Given the description of an element on the screen output the (x, y) to click on. 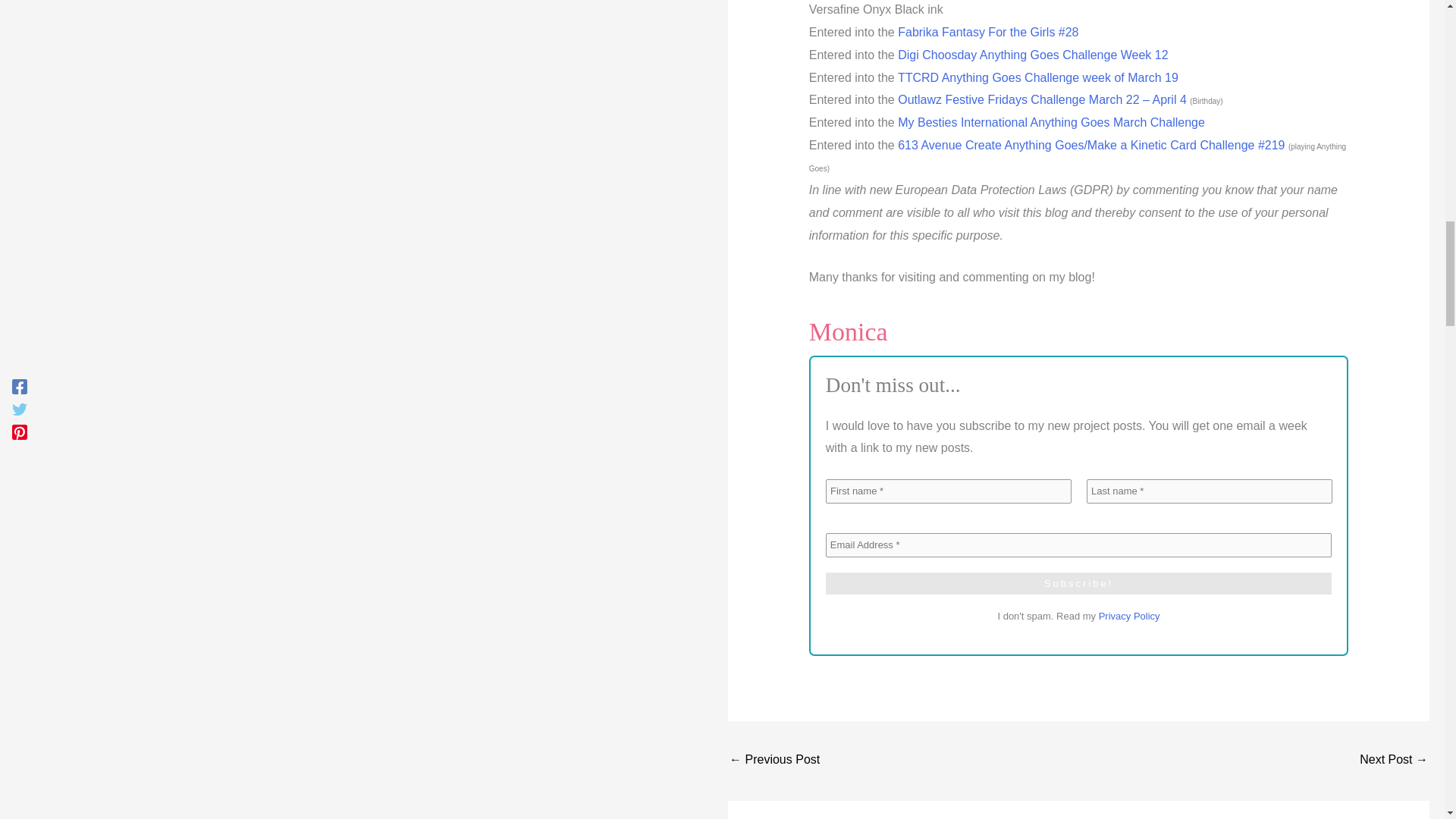
Last name (1209, 491)
Trying watercolor pens (1393, 760)
Email Address (1078, 545)
Bright flowers (774, 760)
First name (948, 491)
Subscribe! (1078, 583)
